Given the description of an element on the screen output the (x, y) to click on. 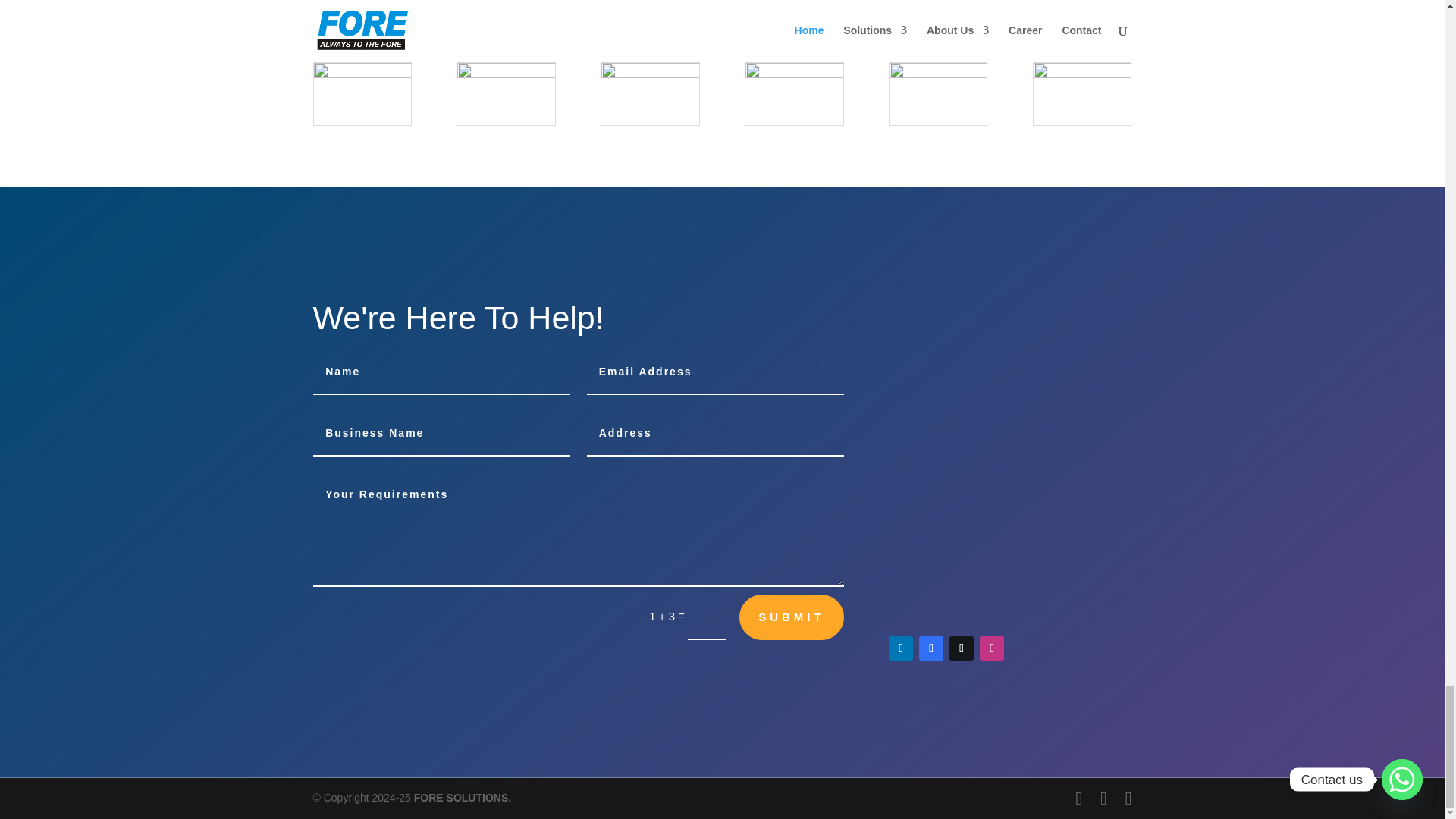
IBM (362, 10)
SUBMIT (791, 616)
FORE SOLUTIONS. (462, 797)
